Given the description of an element on the screen output the (x, y) to click on. 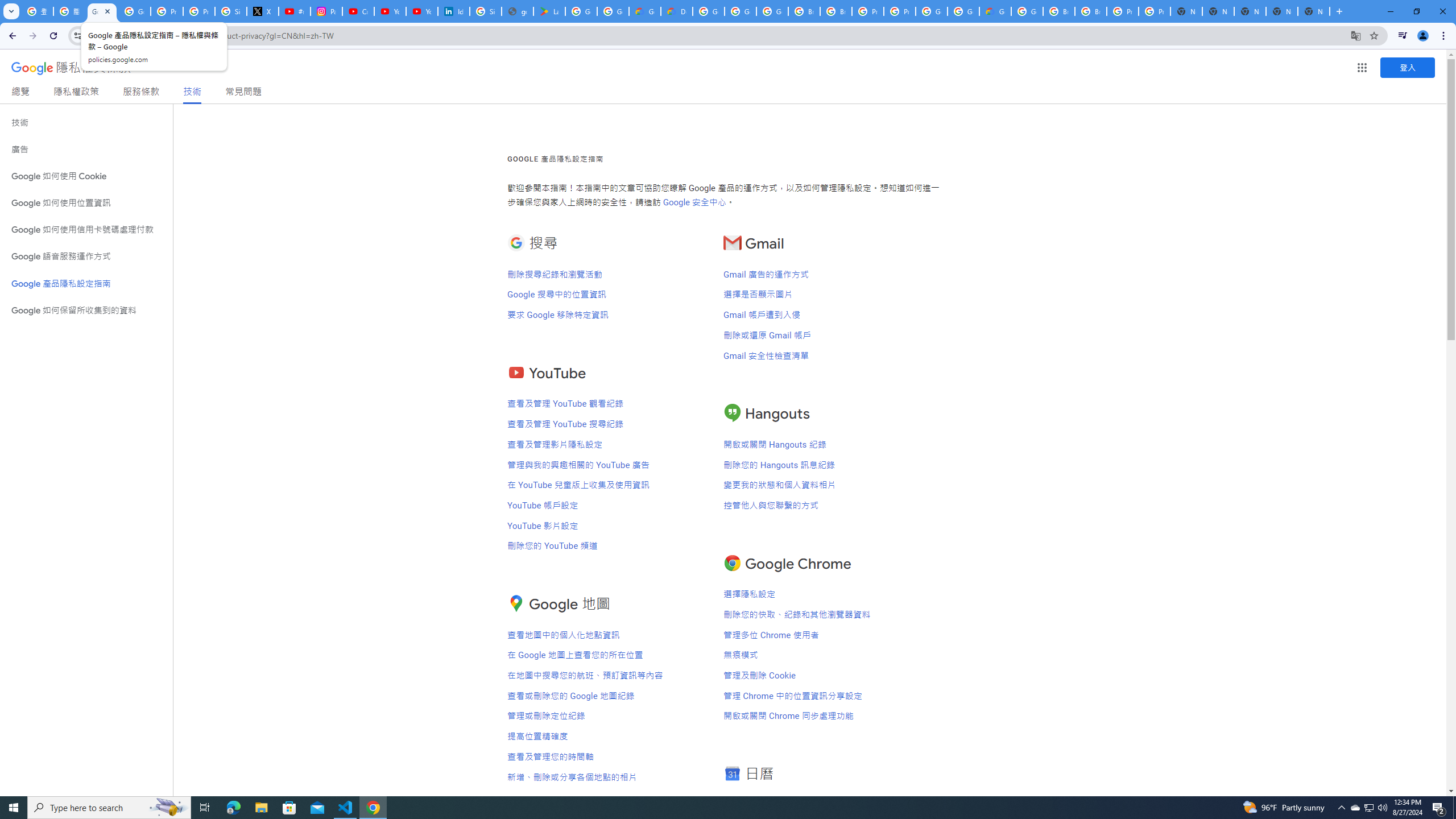
Google Cloud Estimate Summary (995, 11)
Translate this page (1355, 35)
Government | Google Cloud (644, 11)
